Given the description of an element on the screen output the (x, y) to click on. 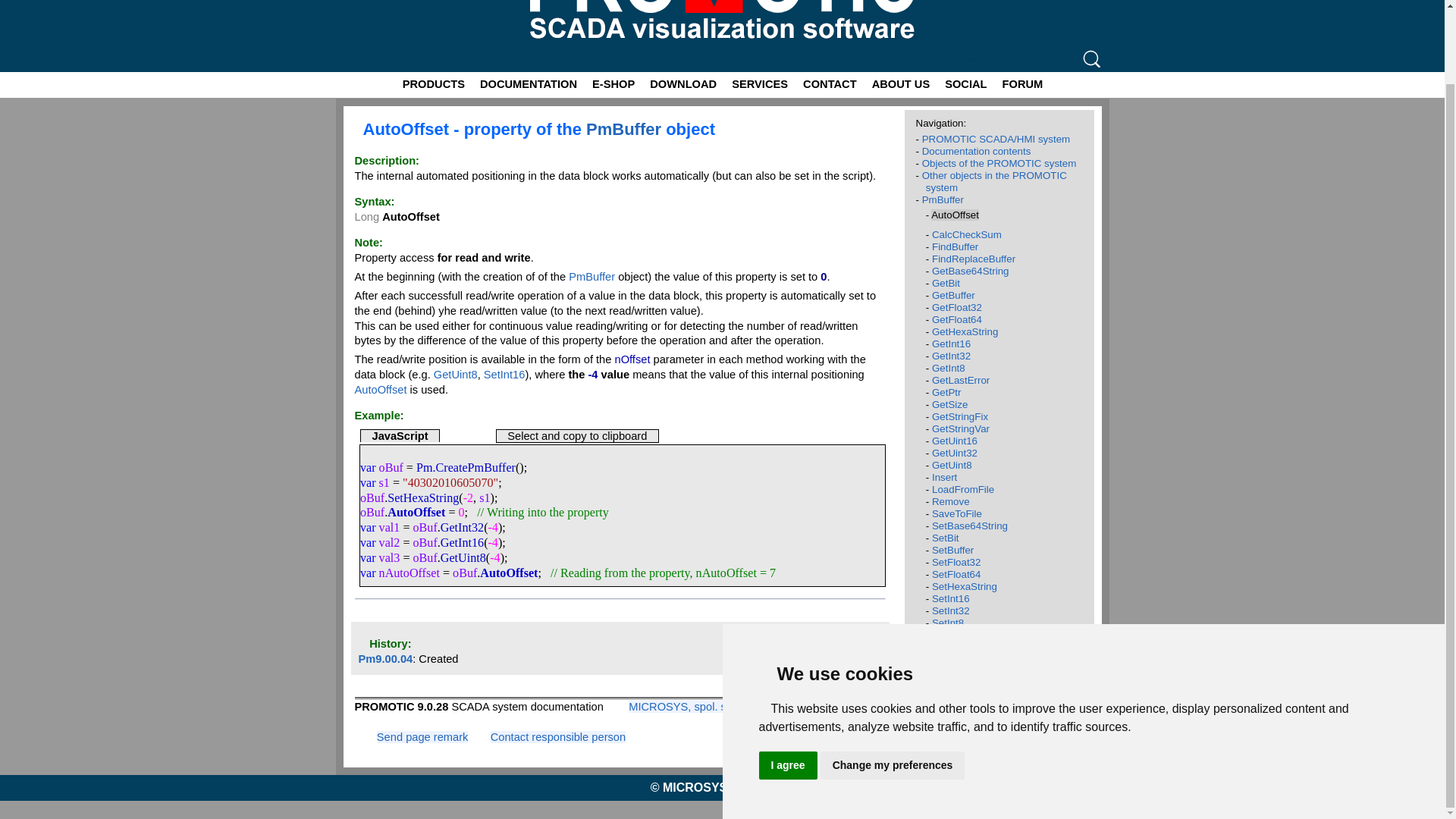
Promotic (683, 24)
Change my preferences (893, 682)
Search... (1019, 58)
I agree (787, 682)
